Given the description of an element on the screen output the (x, y) to click on. 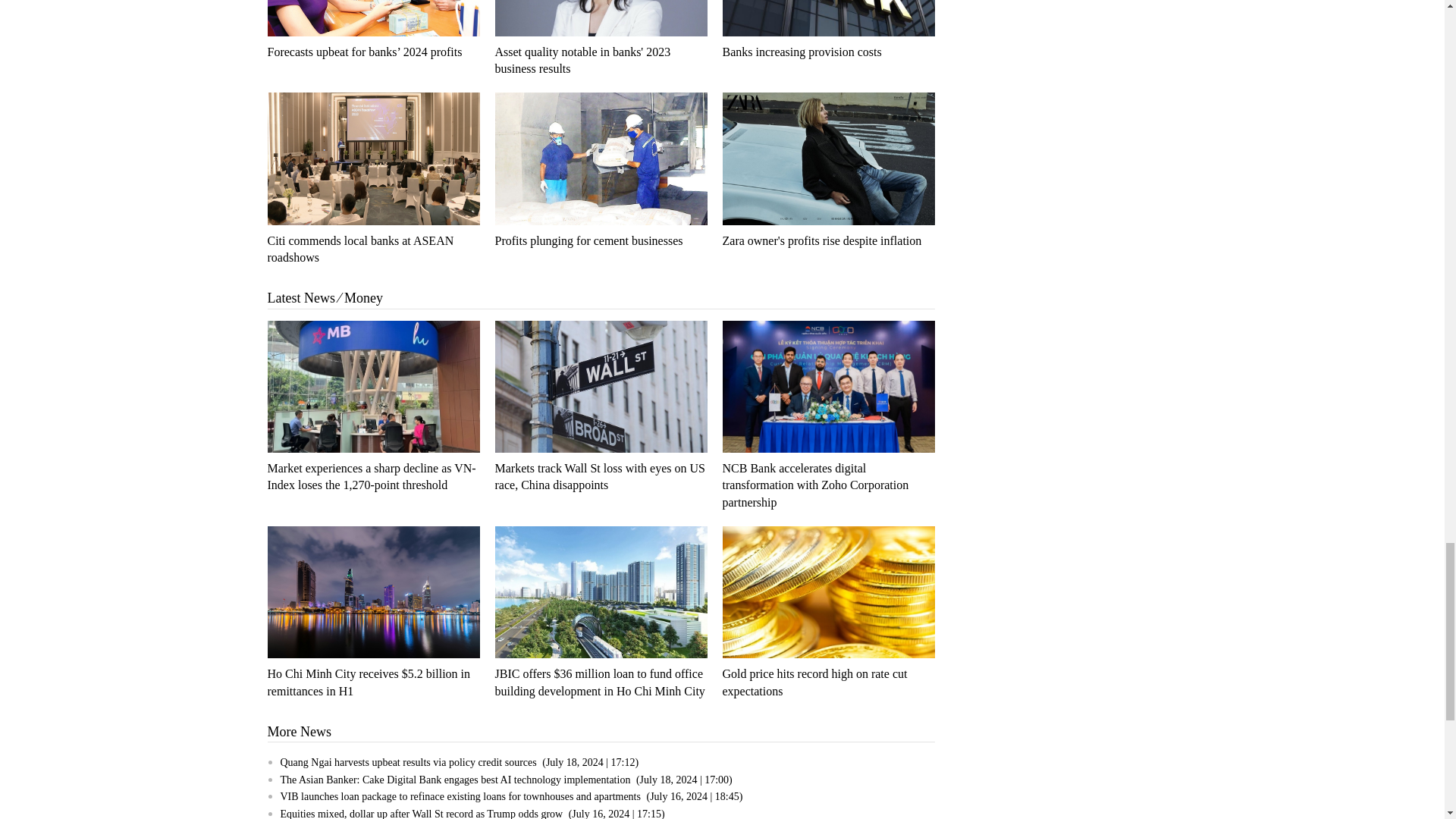
Asset quality notable in banks (582, 60)
Asset quality notable in banks (600, 18)
